Given the description of an element on the screen output the (x, y) to click on. 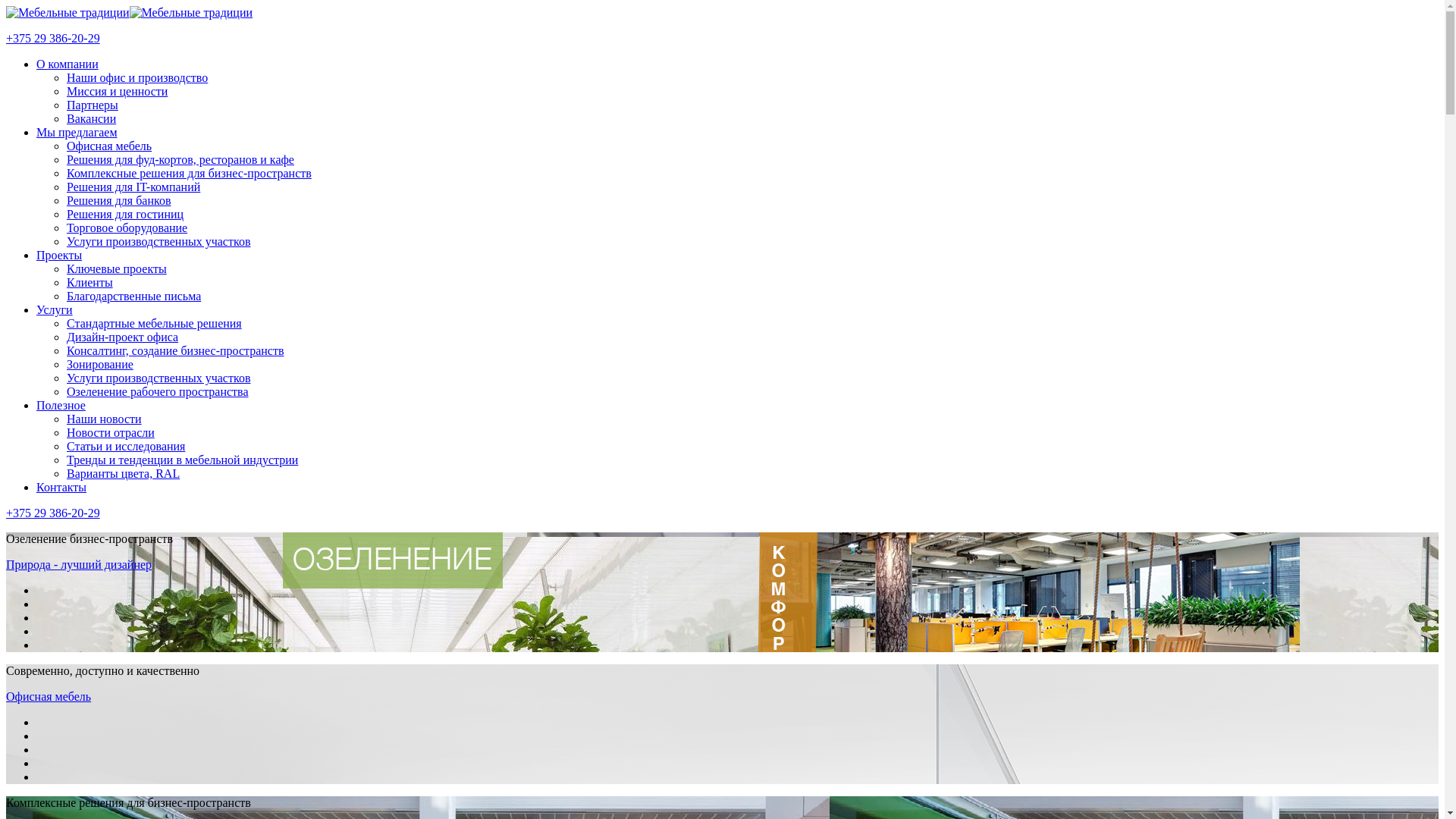
+375 29 386-20-29 Element type: text (53, 37)
+375 29 386-20-29 Element type: text (53, 512)
